Given the description of an element on the screen output the (x, y) to click on. 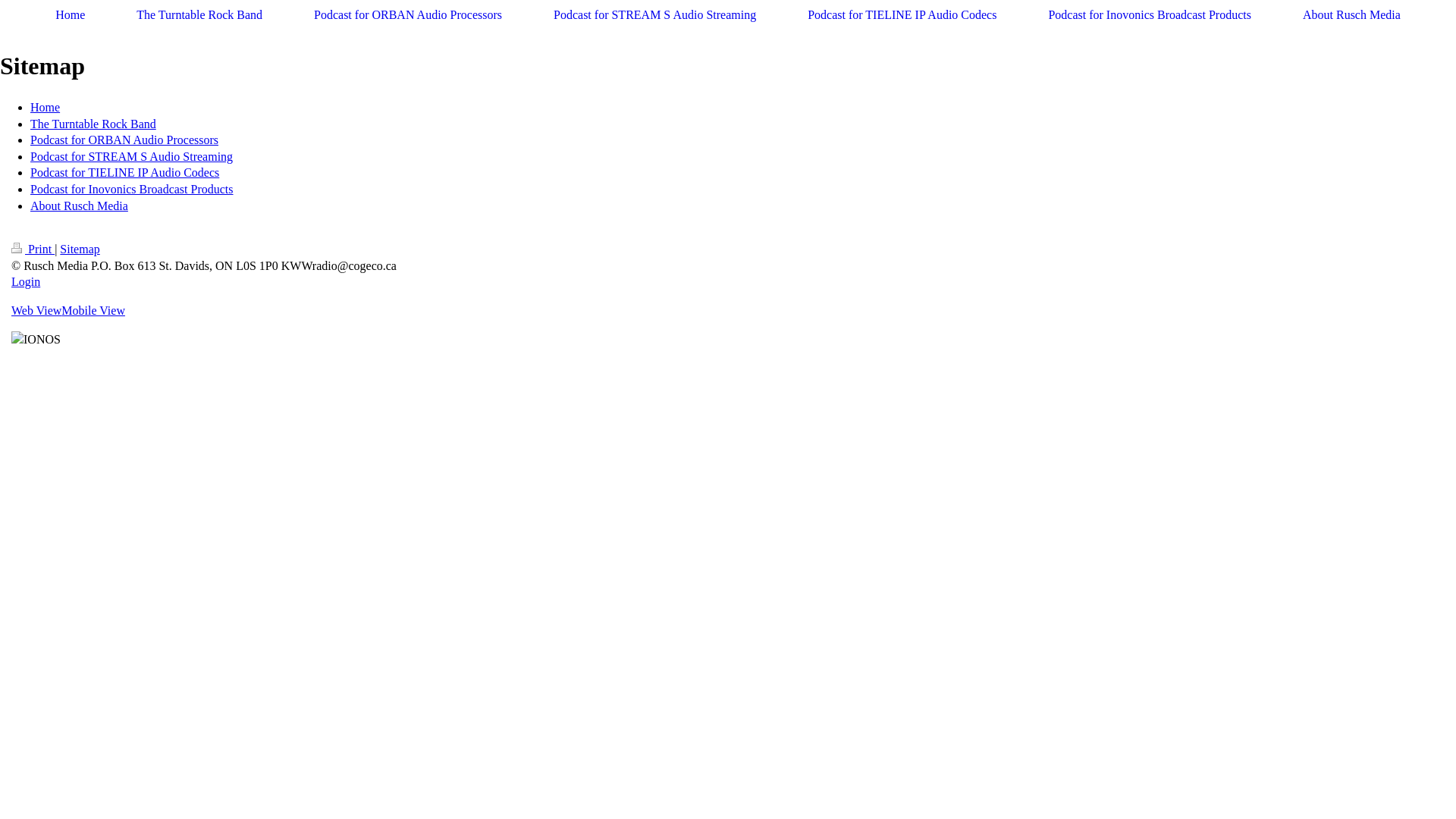
Sitemap Element type: text (79, 248)
Home Element type: text (70, 14)
Podcast for ORBAN Audio Processors Element type: text (407, 14)
Podcast for Inovonics Broadcast Products Element type: text (1149, 14)
Podcast for TIELINE IP Audio Codecs Element type: text (124, 172)
Podcast for STREAM S Audio Streaming Element type: text (654, 14)
Home Element type: text (44, 106)
Print Element type: text (32, 248)
Podcast for STREAM S Audio Streaming Element type: text (131, 156)
Podcast for ORBAN Audio Processors Element type: text (124, 139)
The Turntable Rock Band Element type: text (199, 14)
Podcast for Inovonics Broadcast Products Element type: text (131, 188)
About Rusch Media Element type: text (79, 205)
Web View Element type: text (36, 310)
Login Element type: text (25, 281)
The Turntable Rock Band Element type: text (93, 123)
About Rusch Media Element type: text (1351, 14)
IONOS Element type: hover (35, 339)
Mobile View Element type: text (93, 310)
Podcast for TIELINE IP Audio Codecs Element type: text (901, 14)
